Given the description of an element on the screen output the (x, y) to click on. 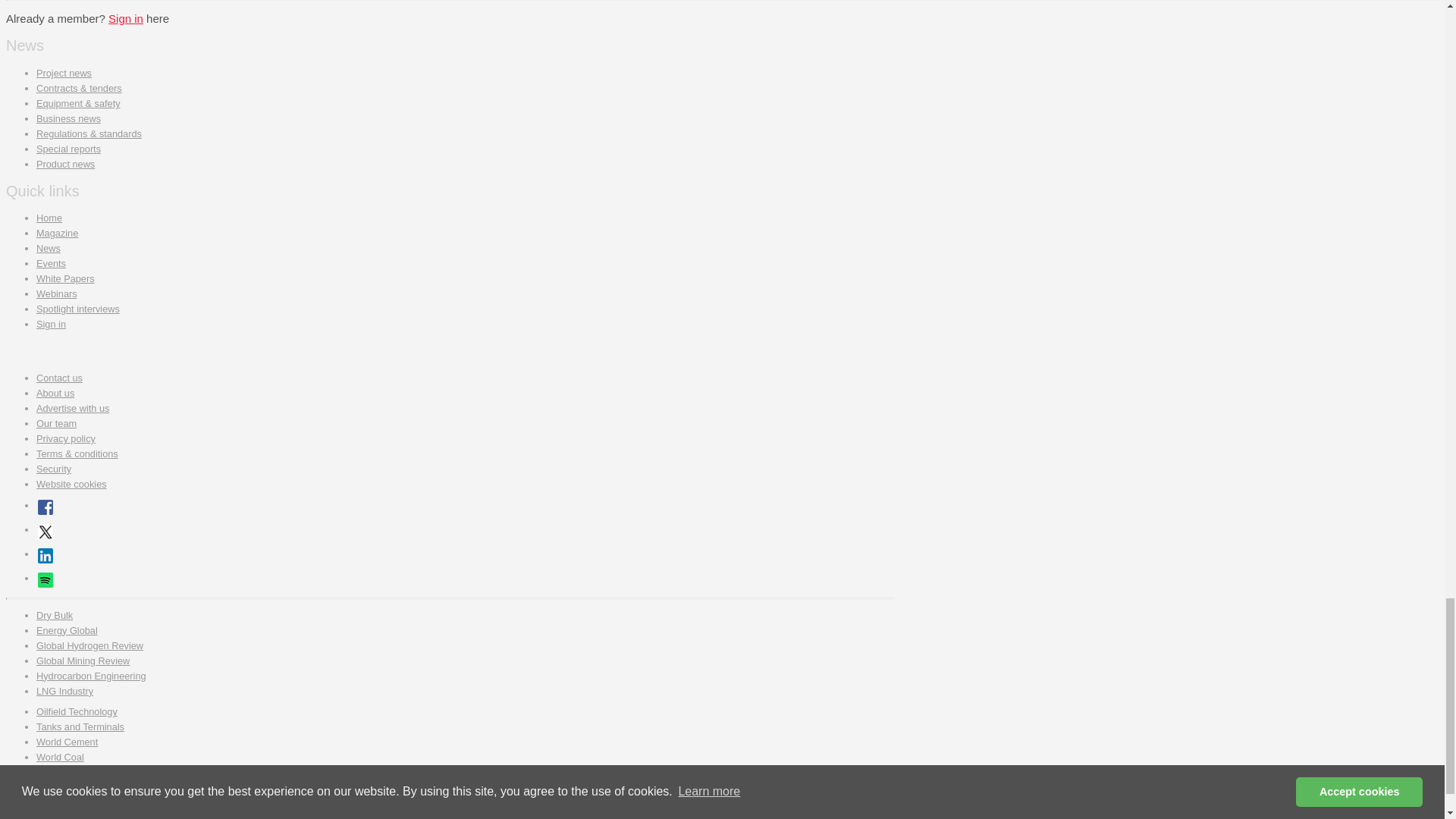
Sign in (124, 18)
Project news (63, 72)
